Given the description of an element on the screen output the (x, y) to click on. 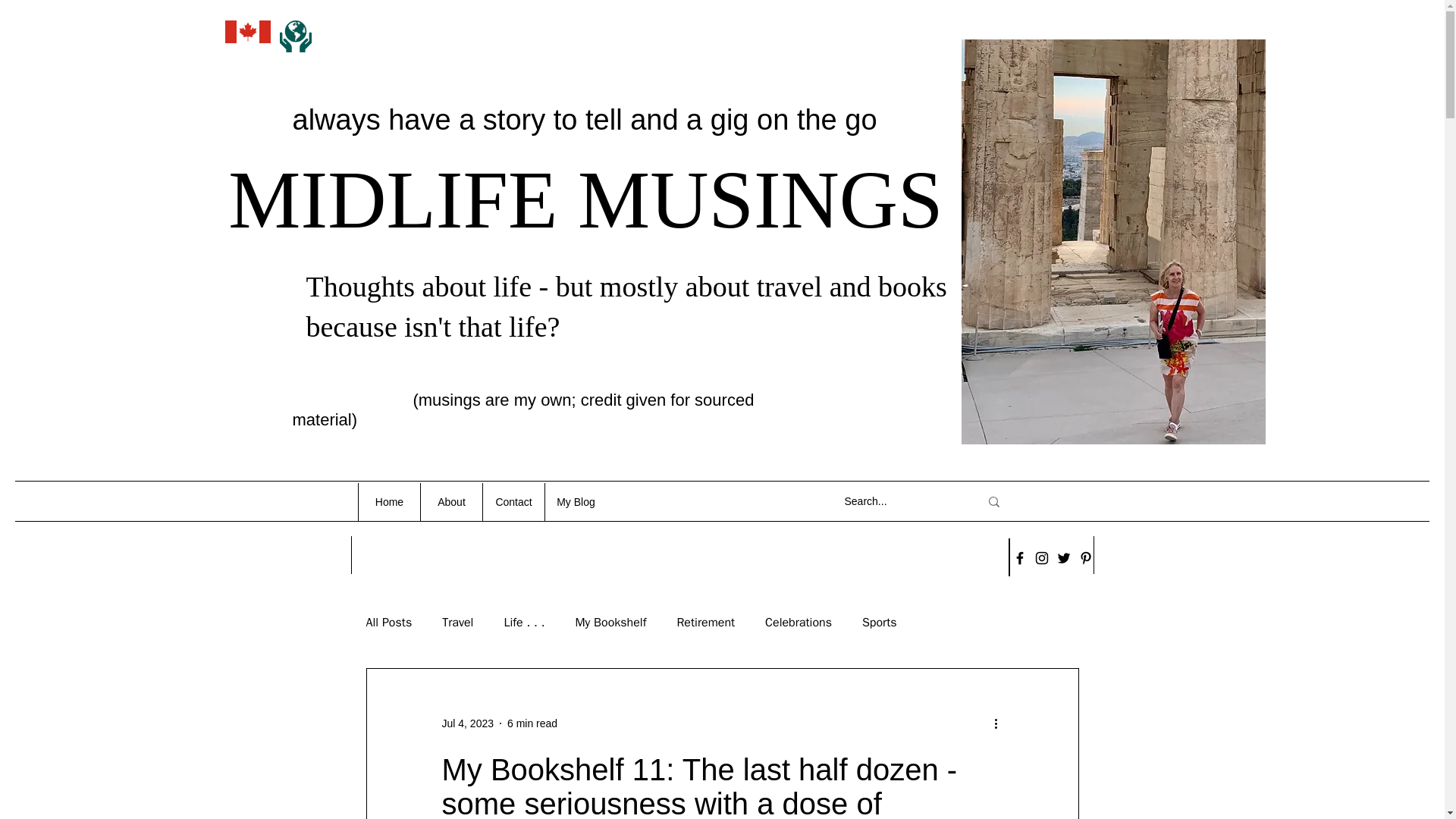
My Blog (575, 501)
Contact (512, 501)
Home (389, 501)
All Posts (388, 621)
Life . . . (523, 621)
Retirement (706, 621)
Jul 4, 2023 (467, 723)
MIDLIFE MUSINGS (585, 199)
About (450, 501)
6 min read (531, 723)
